Given the description of an element on the screen output the (x, y) to click on. 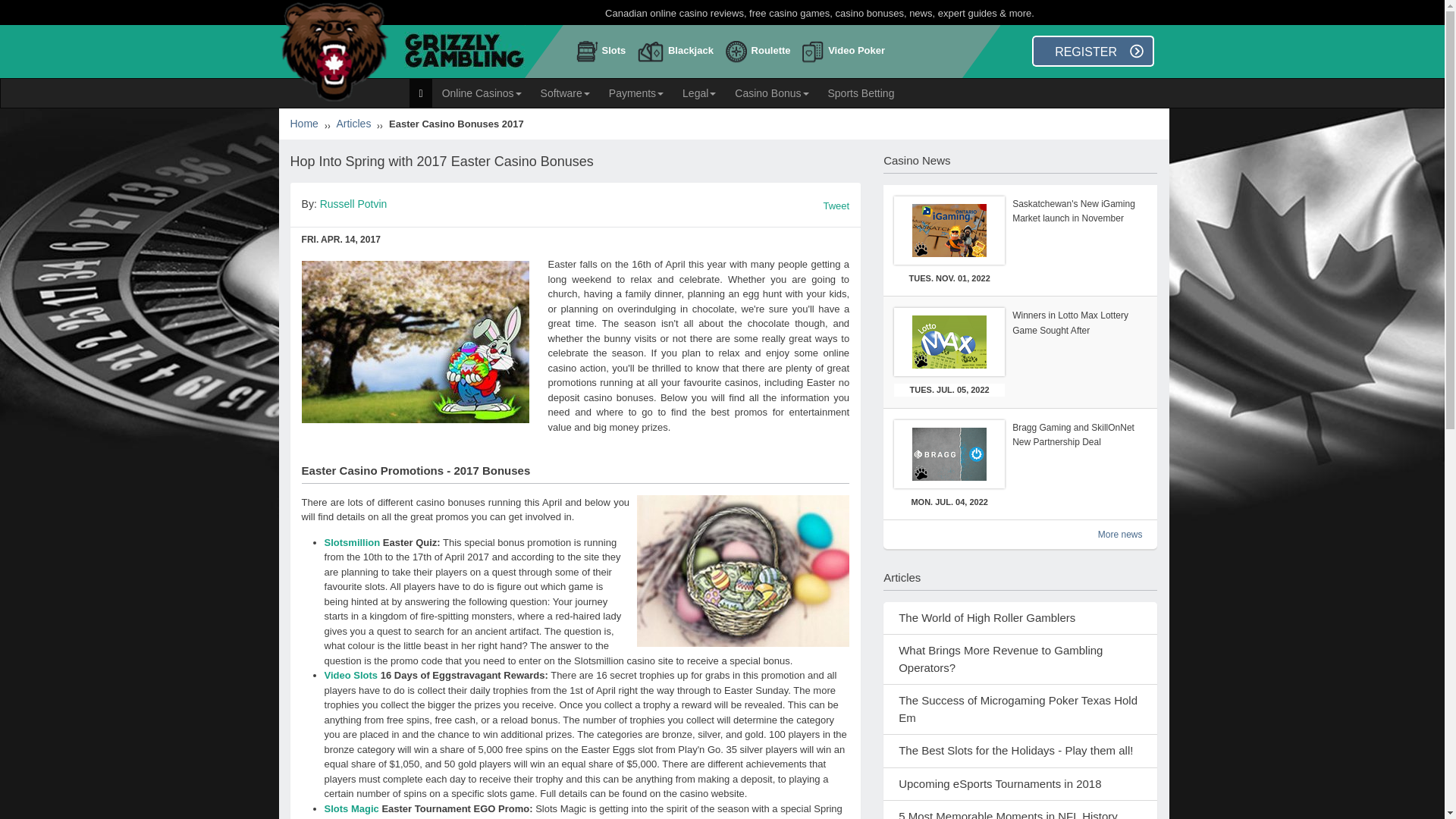
Payments (635, 92)
Software (564, 92)
Video Poker (847, 54)
Slots (604, 54)
Blackjack (678, 54)
REGISTER (1093, 51)
Roulette (761, 54)
Online Casinos (481, 92)
